Given the description of an element on the screen output the (x, y) to click on. 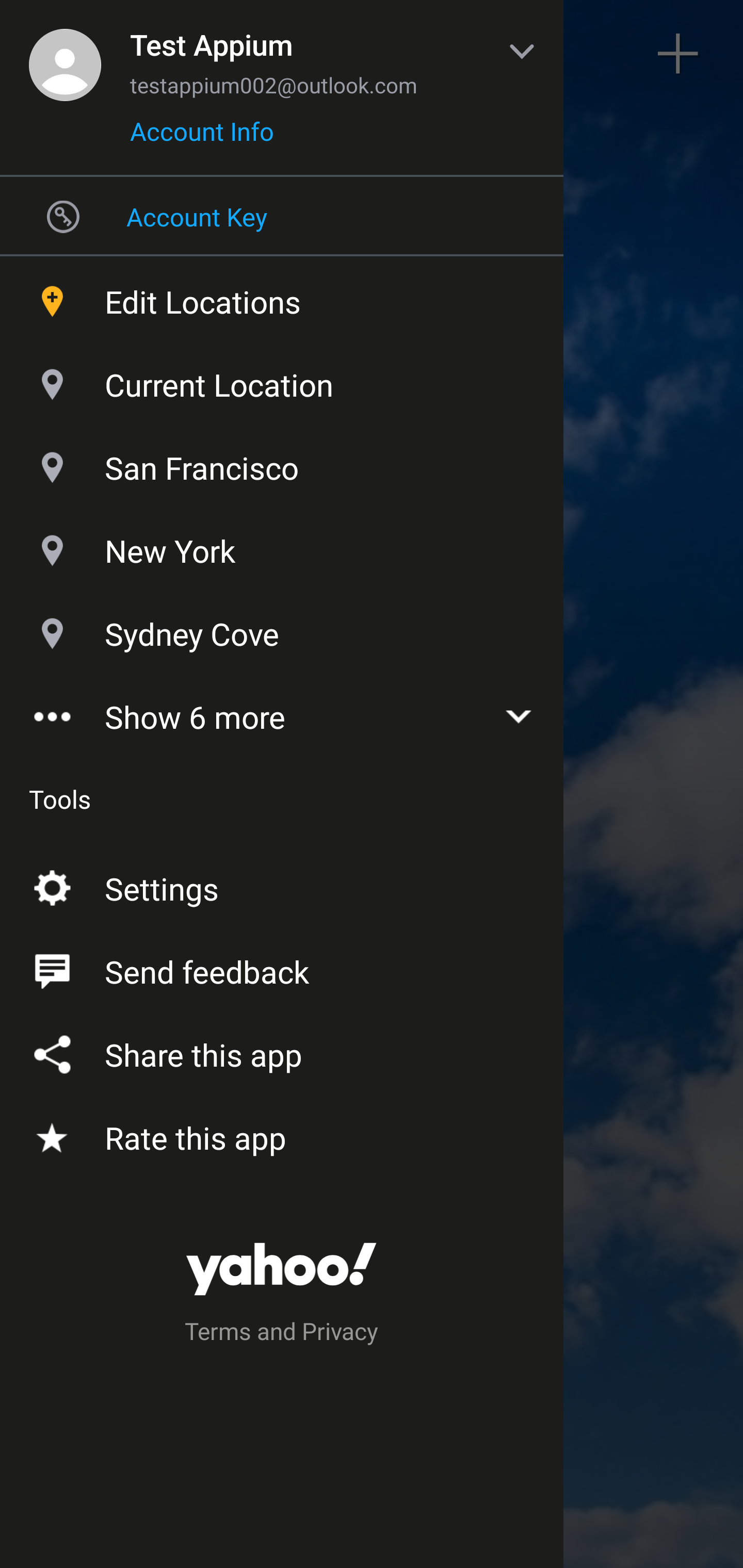
Sidebar (64, 54)
Account Info (202, 137)
Account Key (281, 216)
Edit Locations (281, 296)
Current Location (281, 379)
San Francisco (281, 462)
New York (281, 546)
Sydney Cove (281, 629)
Settings (281, 884)
Send feedback (281, 967)
Share this app (281, 1050)
Terms and Privacy Terms and privacy button (281, 1334)
